Given the description of an element on the screen output the (x, y) to click on. 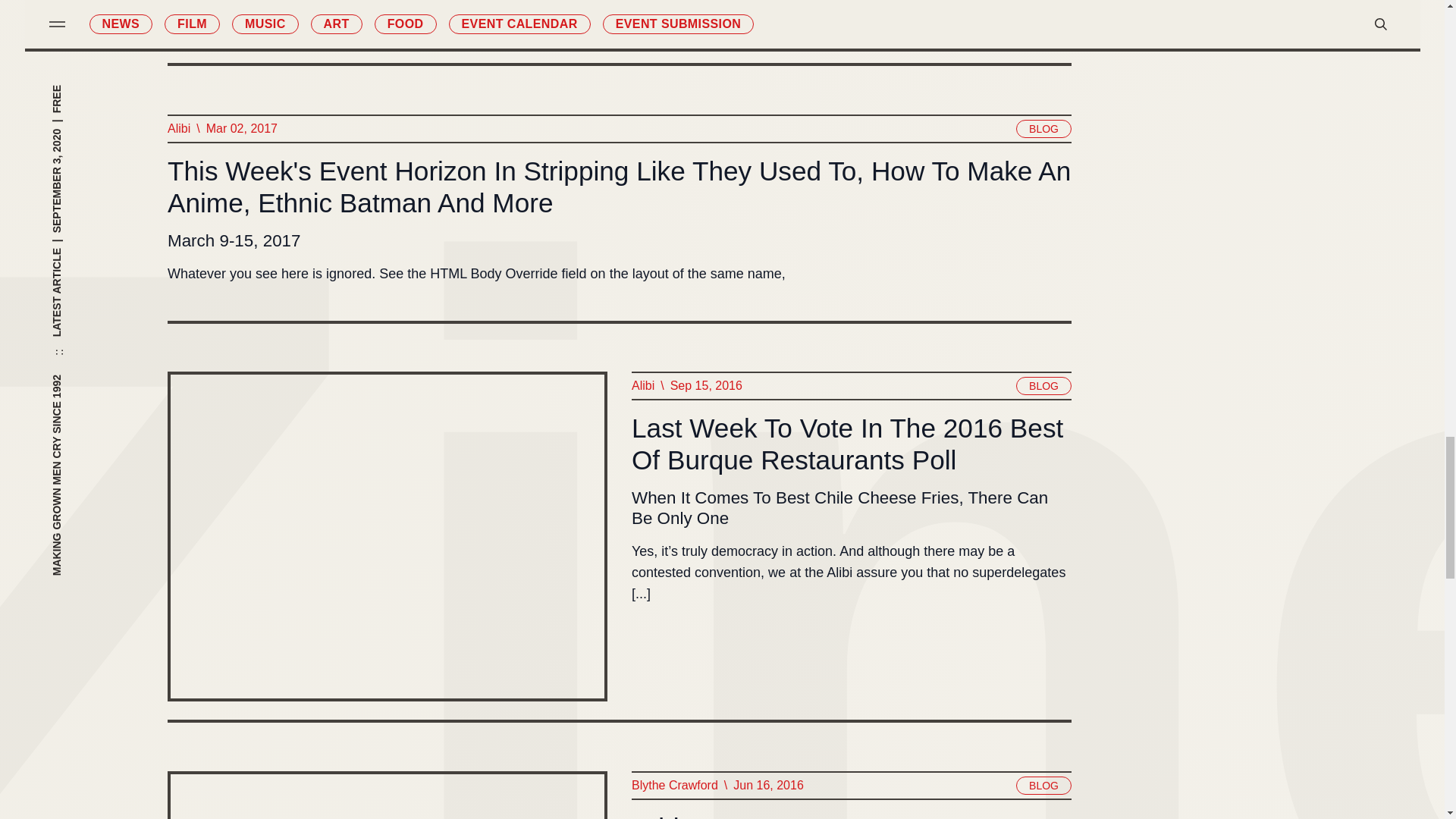
BLOG (1043, 128)
Alibi (178, 128)
